Given the description of an element on the screen output the (x, y) to click on. 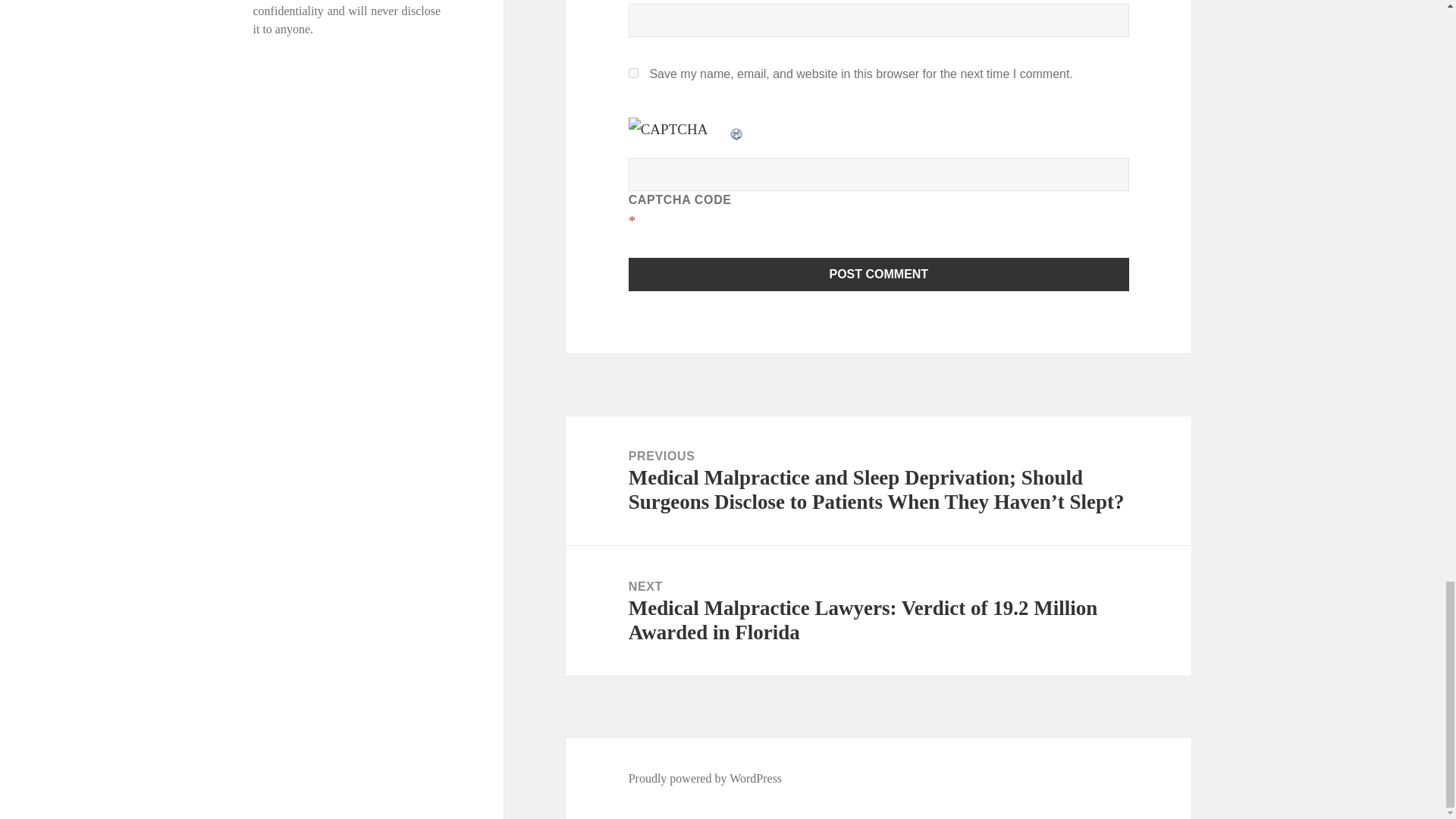
Refresh (737, 129)
yes (633, 72)
Post Comment (878, 274)
CAPTCHA (678, 133)
